Given the description of an element on the screen output the (x, y) to click on. 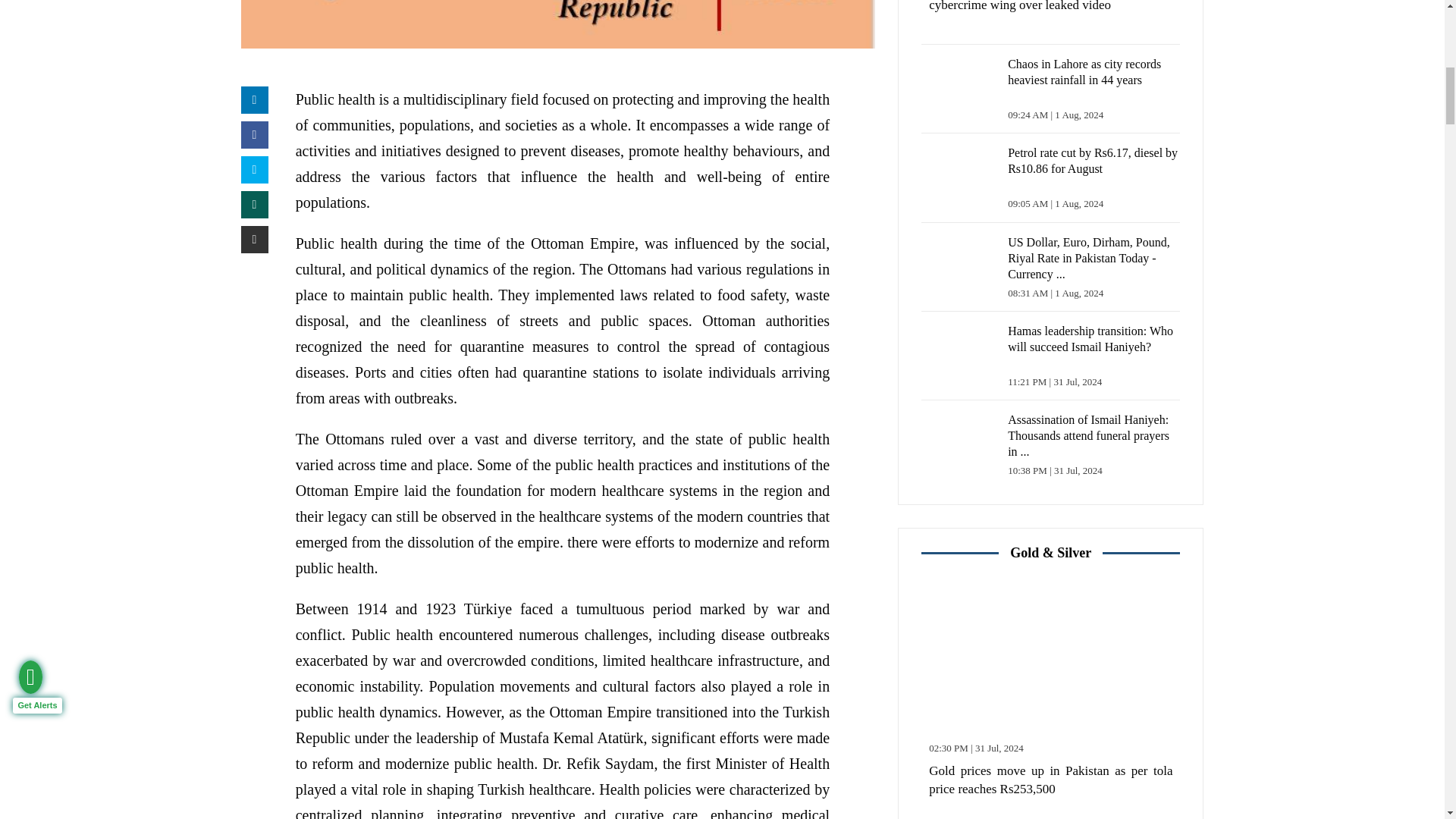
Petrol rate cut by Rs6.17, diesel by Rs10.86 for August  (960, 176)
